Given the description of an element on the screen output the (x, y) to click on. 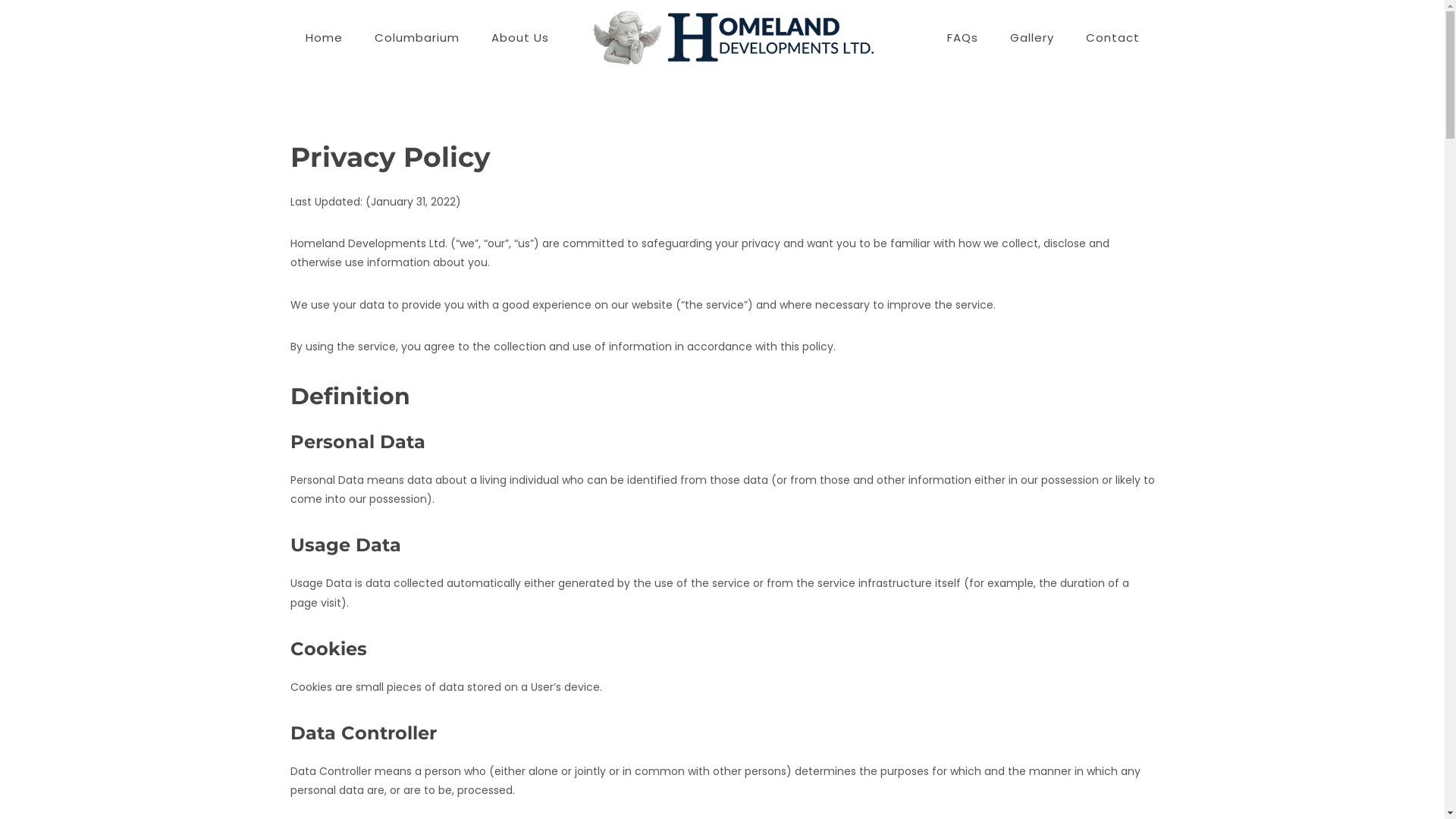
Gallery Element type: text (1031, 37)
About Us Element type: text (520, 37)
Columbarium Element type: text (416, 37)
Home Element type: text (323, 37)
FAQs Element type: text (961, 37)
Contact Element type: text (1112, 37)
